Given the description of an element on the screen output the (x, y) to click on. 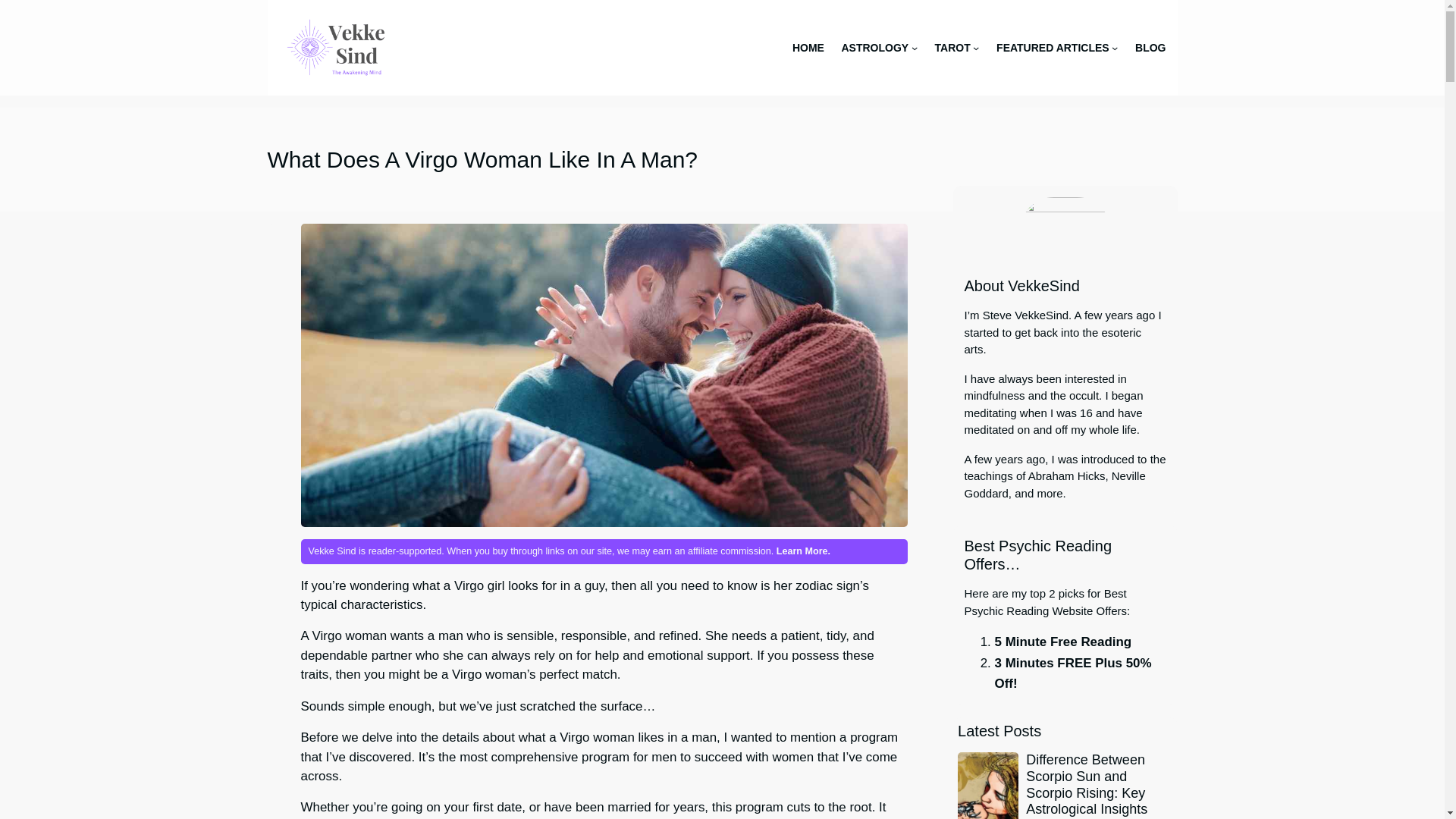
Learn More. (802, 551)
HOME (808, 47)
ASTROLOGY (874, 47)
FEATURED ARTICLES (1052, 47)
BLOG (1150, 47)
TAROT (952, 47)
